Given the description of an element on the screen output the (x, y) to click on. 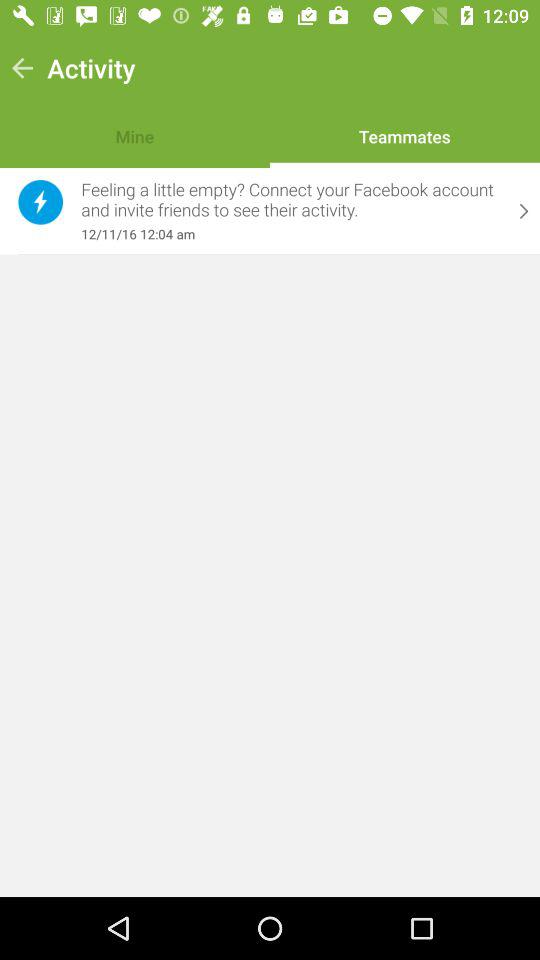
turn on the icon next to activity item (22, 67)
